Given the description of an element on the screen output the (x, y) to click on. 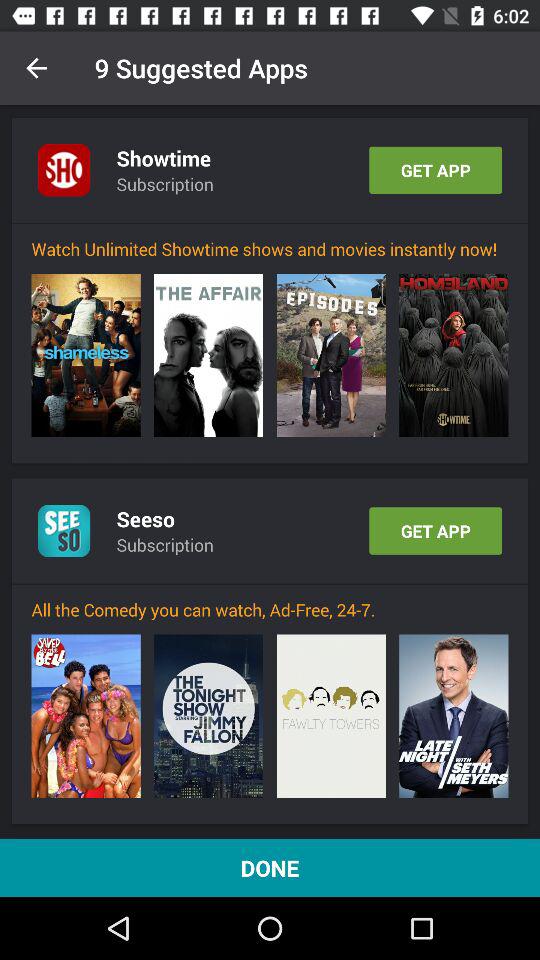
press the icon at the bottom left corner (85, 716)
